Given the description of an element on the screen output the (x, y) to click on. 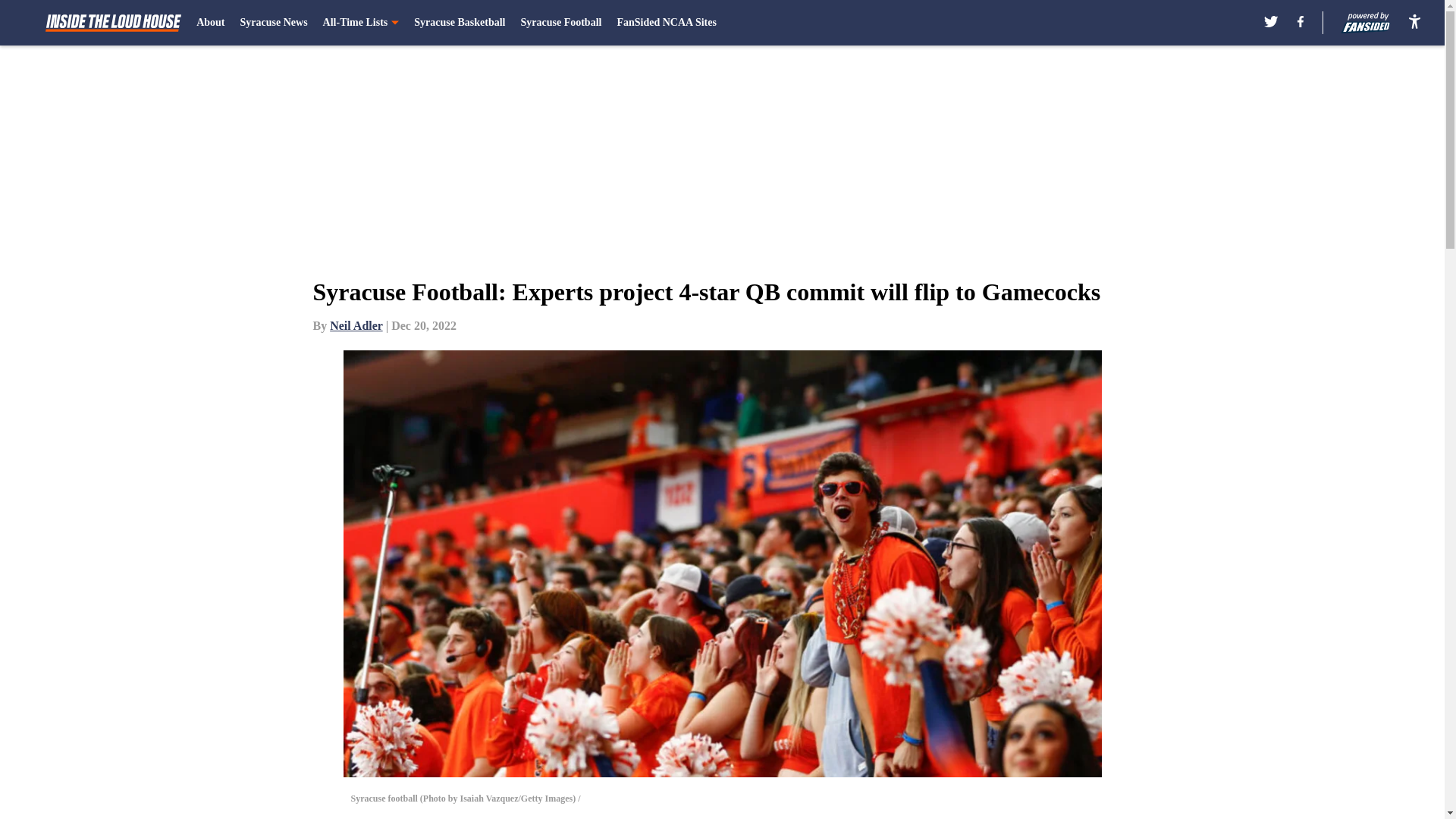
Syracuse Basketball (459, 22)
Syracuse News (273, 22)
Neil Adler (355, 325)
FanSided NCAA Sites (665, 22)
Syracuse Football (560, 22)
About (210, 22)
